Given the description of an element on the screen output the (x, y) to click on. 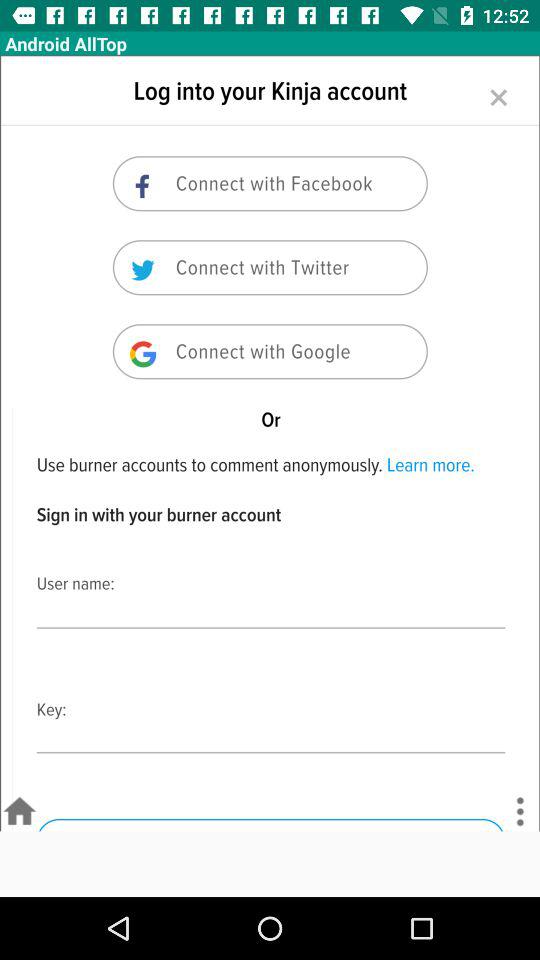
go to home (19, 811)
